Given the description of an element on the screen output the (x, y) to click on. 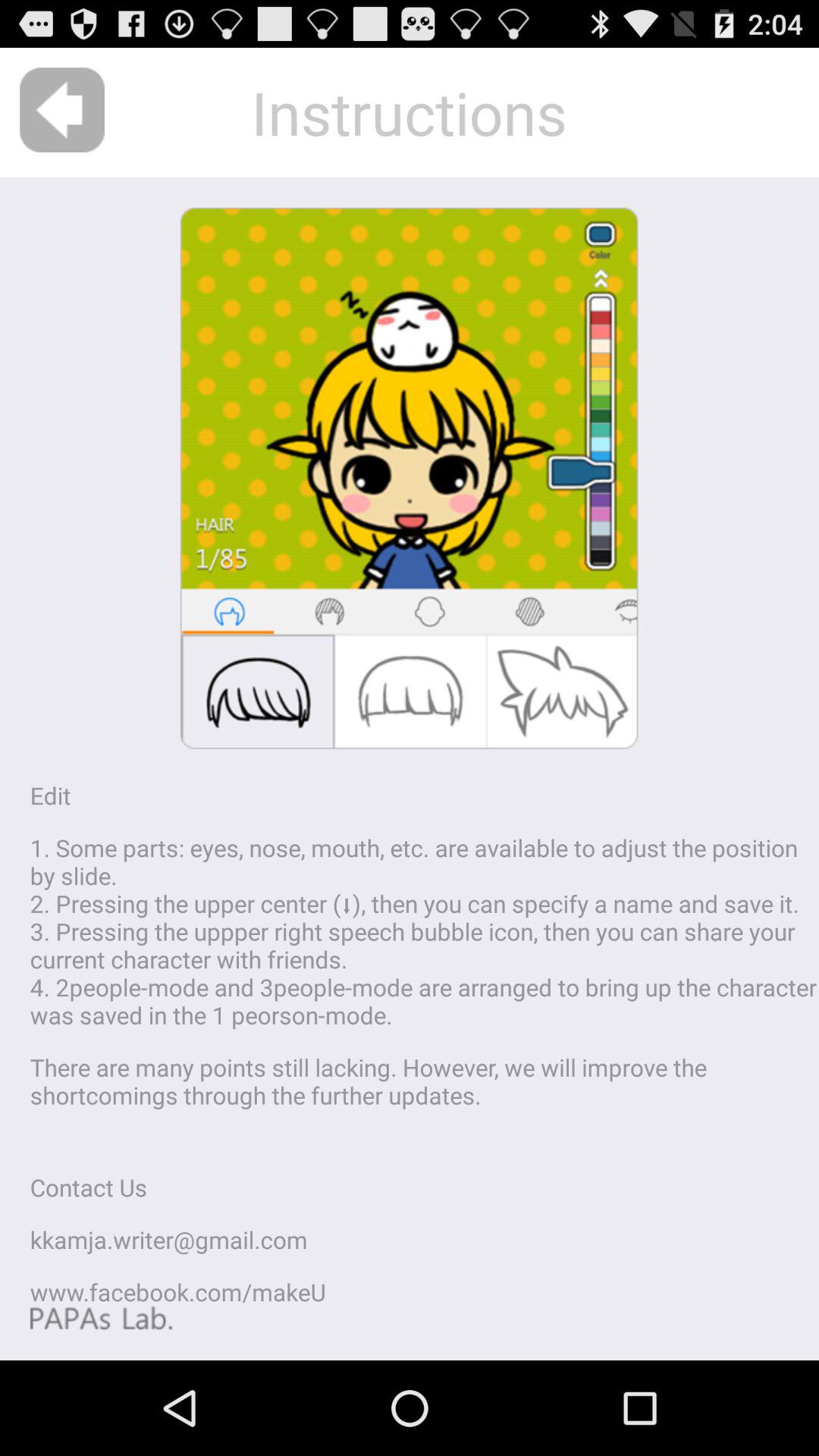
launch the item next to instructions (61, 109)
